Given the description of an element on the screen output the (x, y) to click on. 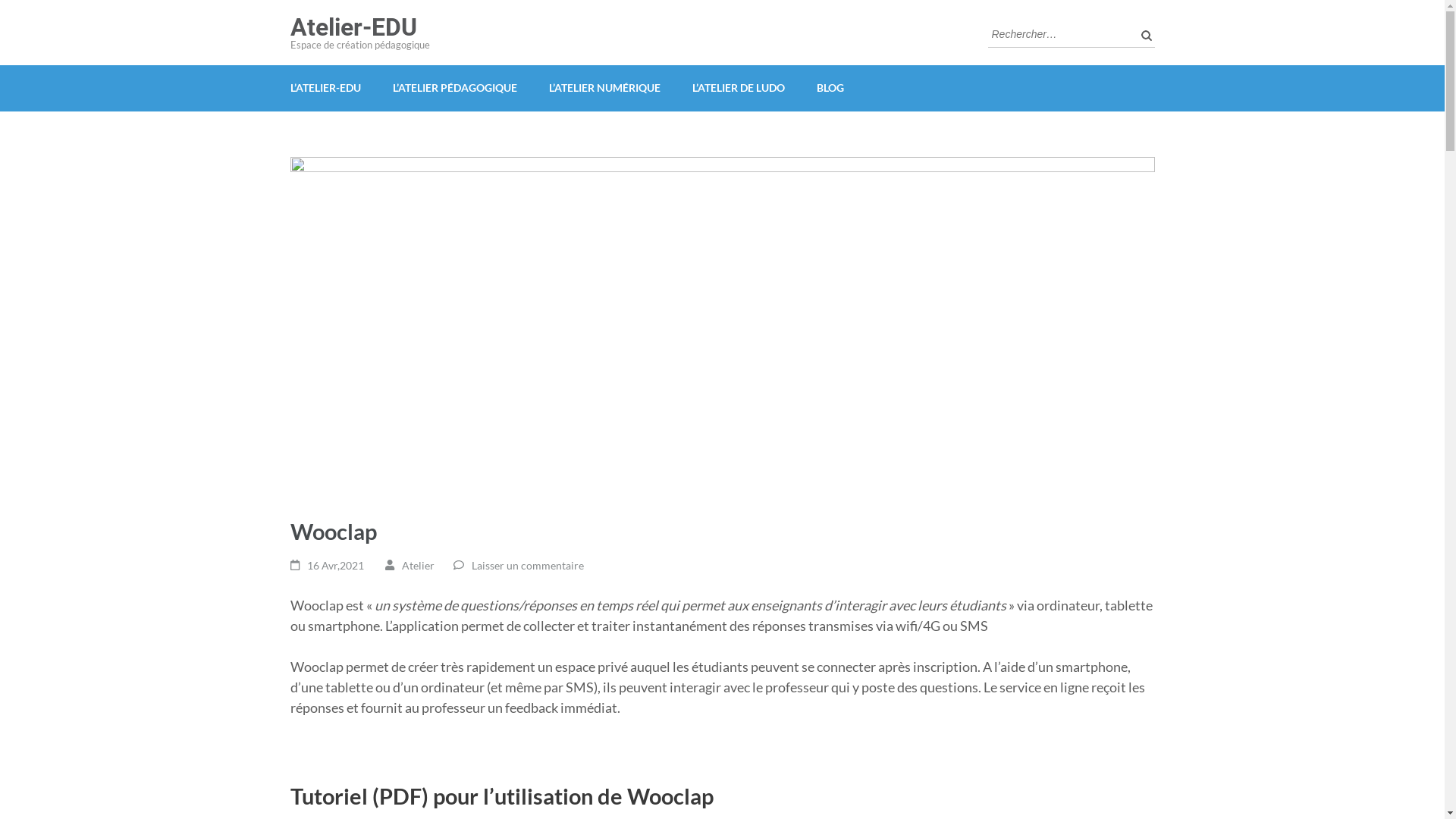
16 Avr,2021 Element type: text (335, 564)
Rechercher Element type: text (1142, 34)
BLOG Element type: text (829, 88)
Atelier Element type: text (417, 564)
Atelier-EDU Element type: text (352, 26)
Laisser un commentaire Element type: text (527, 564)
